Given the description of an element on the screen output the (x, y) to click on. 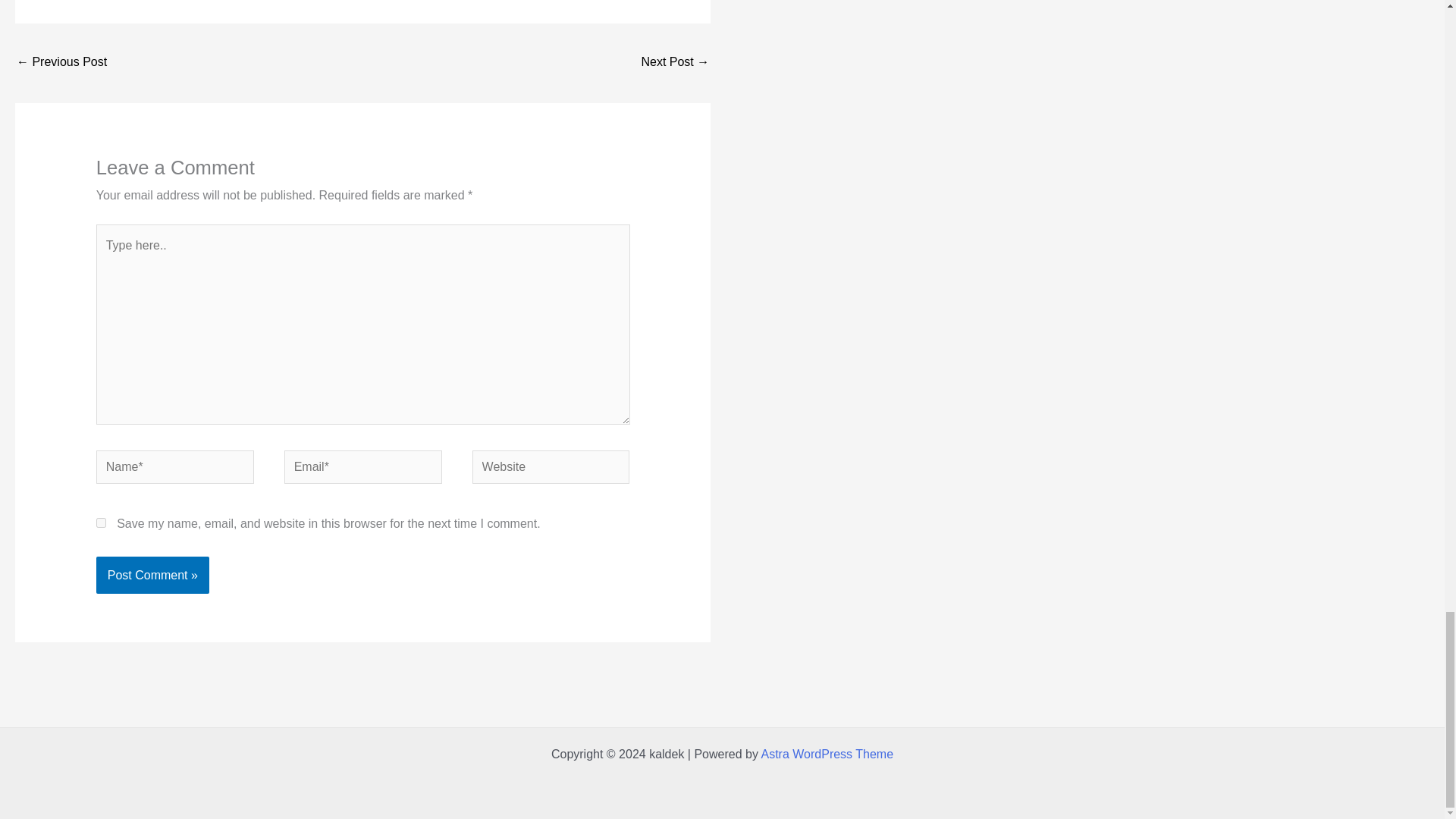
How to make minion goggles? (61, 62)
yes (101, 522)
How to look like fashionable as Anne Hathaway? Who is this? (674, 62)
